Given the description of an element on the screen output the (x, y) to click on. 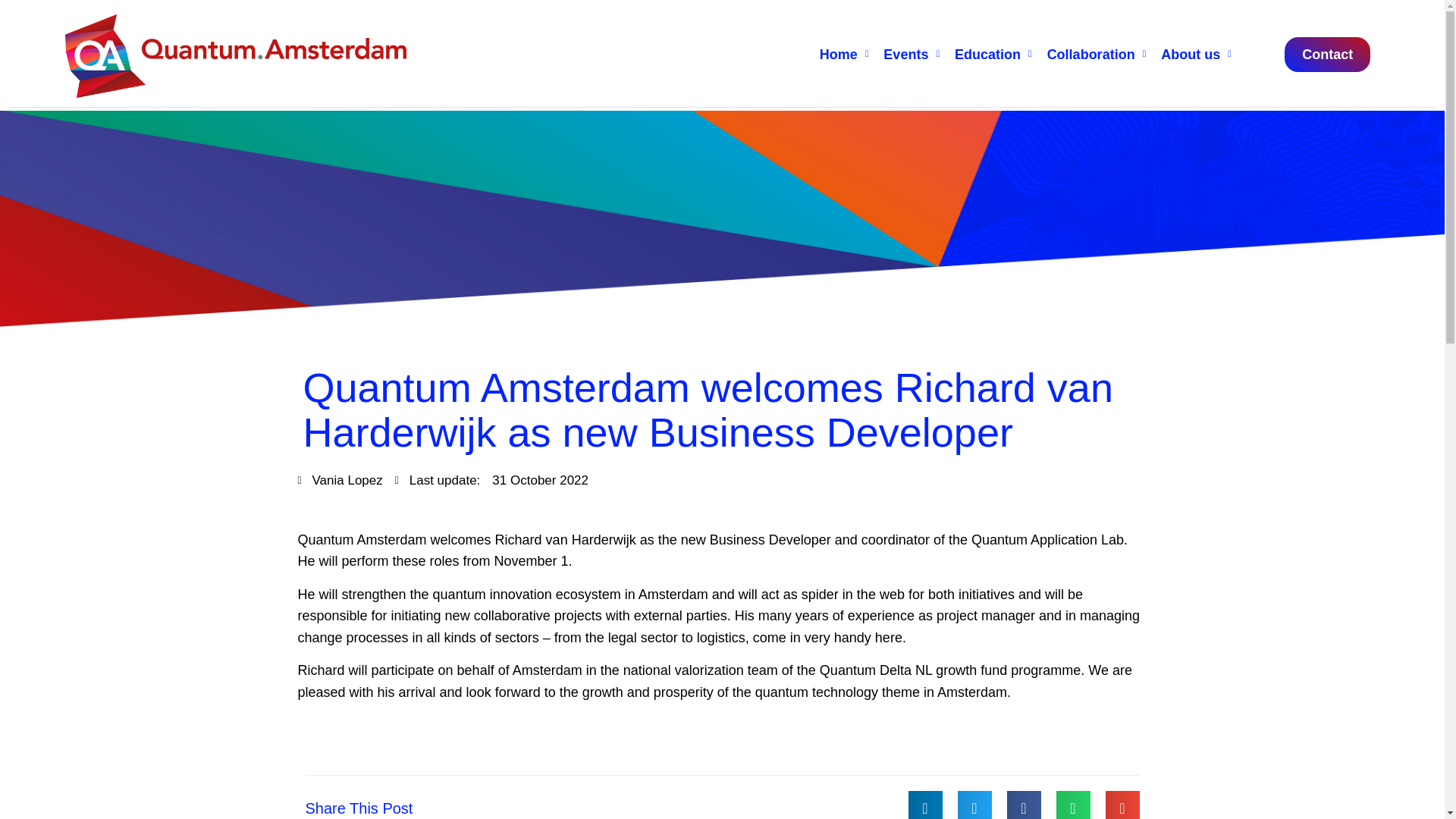
Events (911, 54)
Collaboration (1096, 54)
Home (844, 54)
Education (993, 54)
About us (1196, 54)
